Given the description of an element on the screen output the (x, y) to click on. 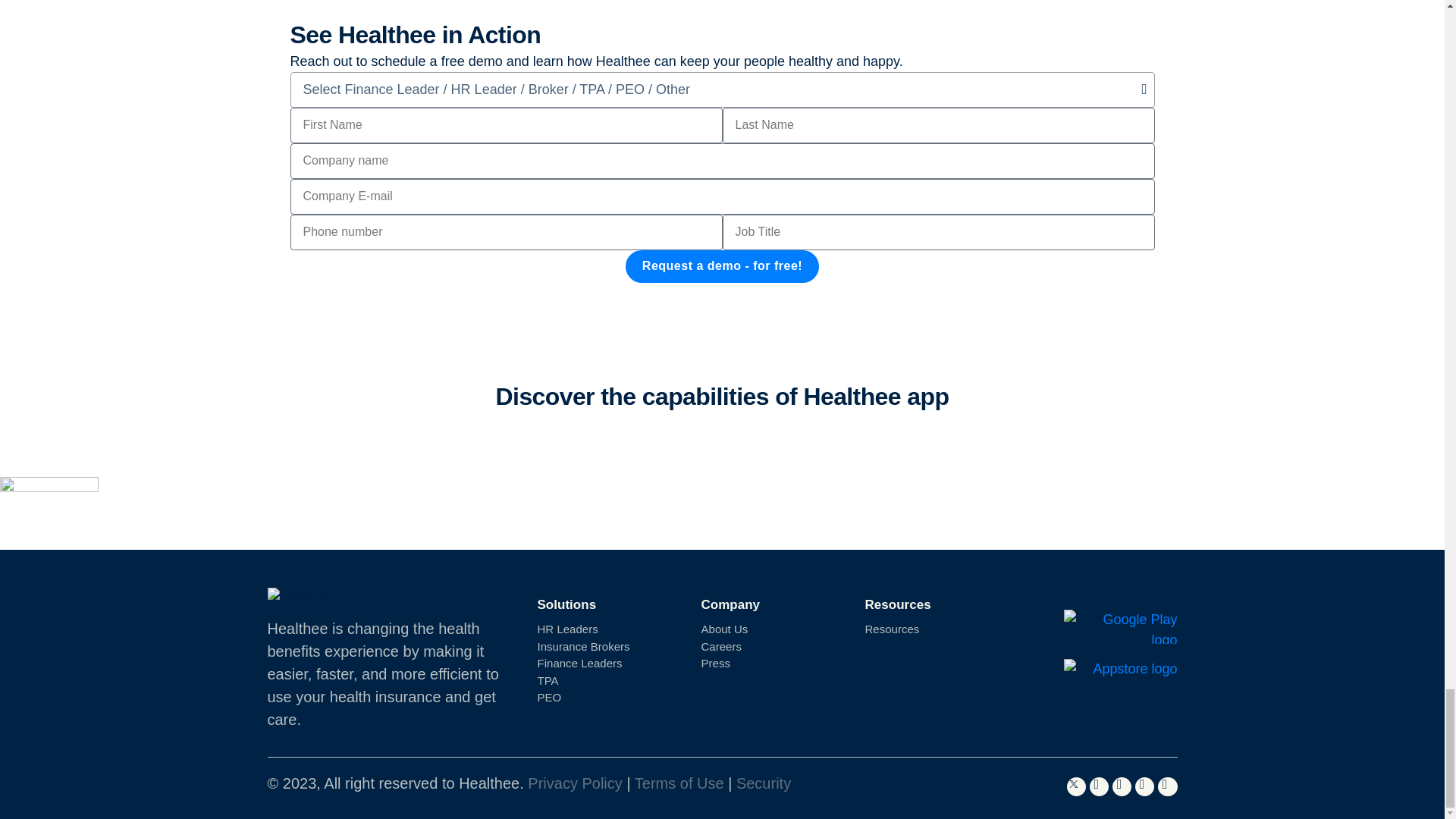
Request a demo - for free! (722, 266)
